Given the description of an element on the screen output the (x, y) to click on. 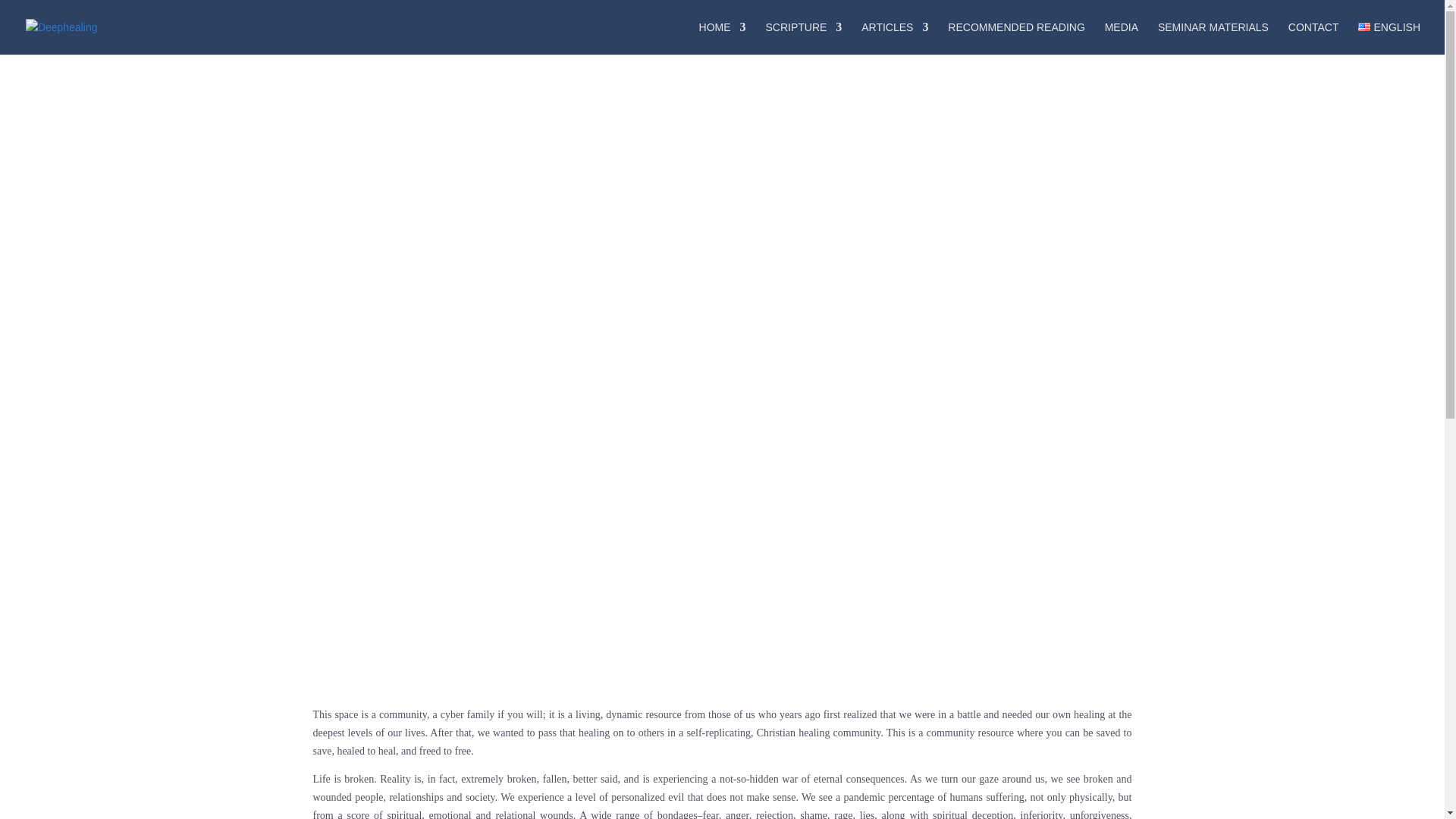
ENGLISH (1389, 38)
HOME (721, 38)
MEDIA (1121, 38)
CONTACT (1313, 38)
SCRIPTURE (803, 38)
RECOMMENDED READING (1015, 38)
SEMINAR MATERIALS (1212, 38)
ARTICLES (894, 38)
